Given the description of an element on the screen output the (x, y) to click on. 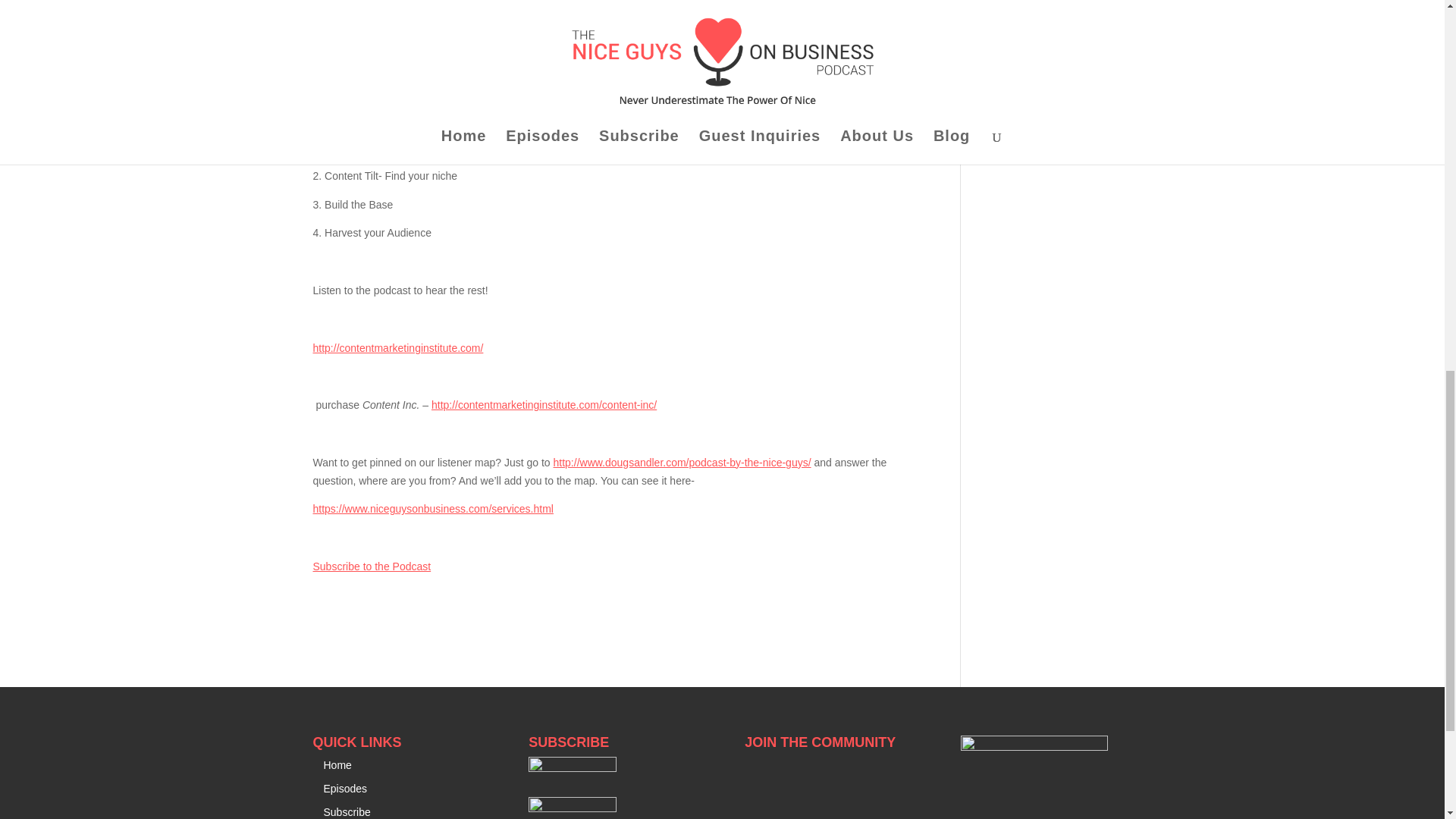
Subscribe to the Podcast (371, 566)
Nice Guys on Business on Stitcher (571, 808)
Nice Guys on Business on iTunes (571, 767)
Home (336, 765)
